Given the description of an element on the screen output the (x, y) to click on. 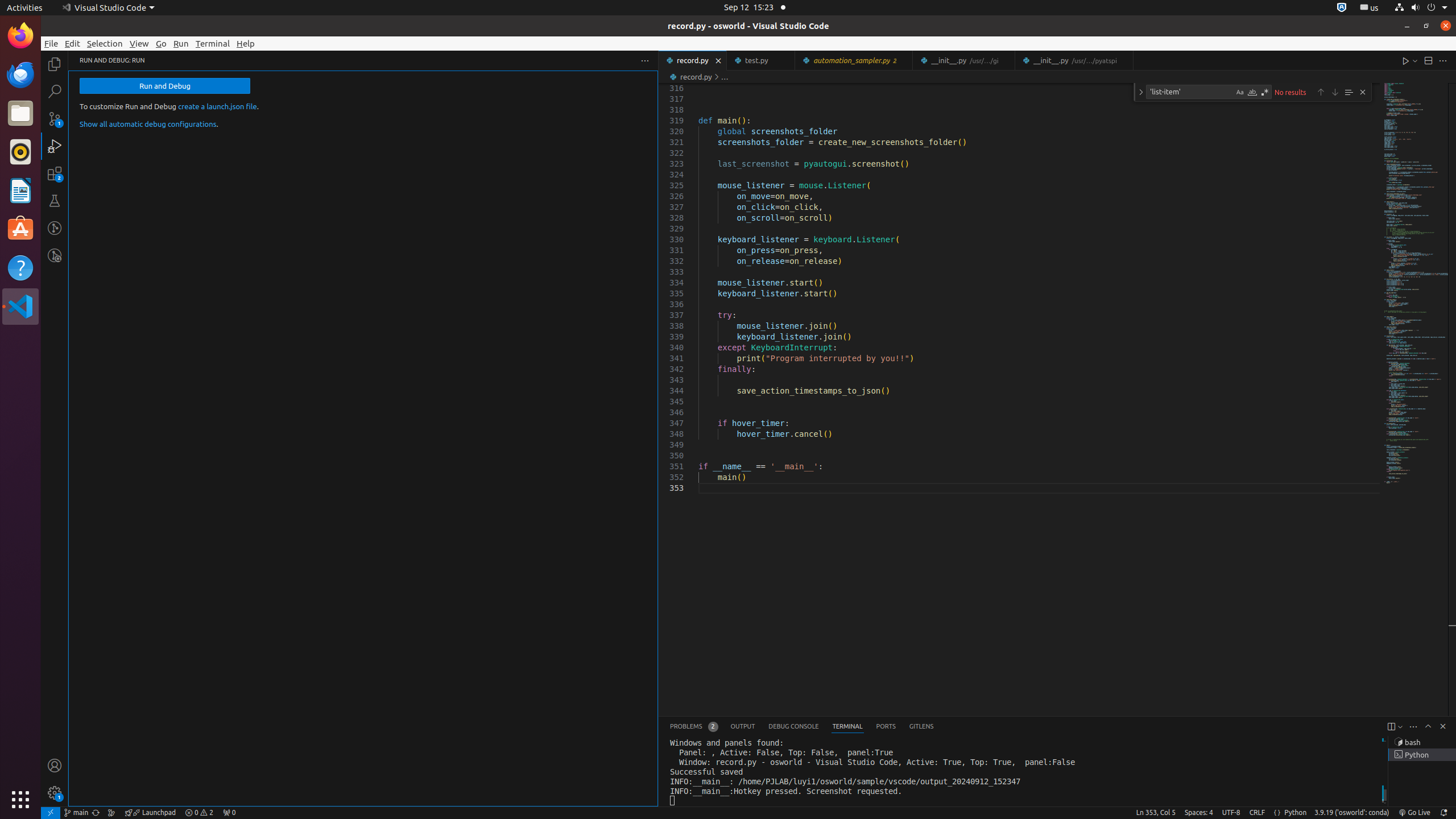
Views and More Actions... Element type: push-button (1413, 726)
Match Whole Word (Alt+W) Element type: check-box (1252, 91)
Find in Selection (Alt+L) Element type: check-box (1348, 91)
Output (Ctrl+K Ctrl+H) Element type: page-tab (742, 726)
Hide Panel Element type: push-button (1442, 726)
